Given the description of an element on the screen output the (x, y) to click on. 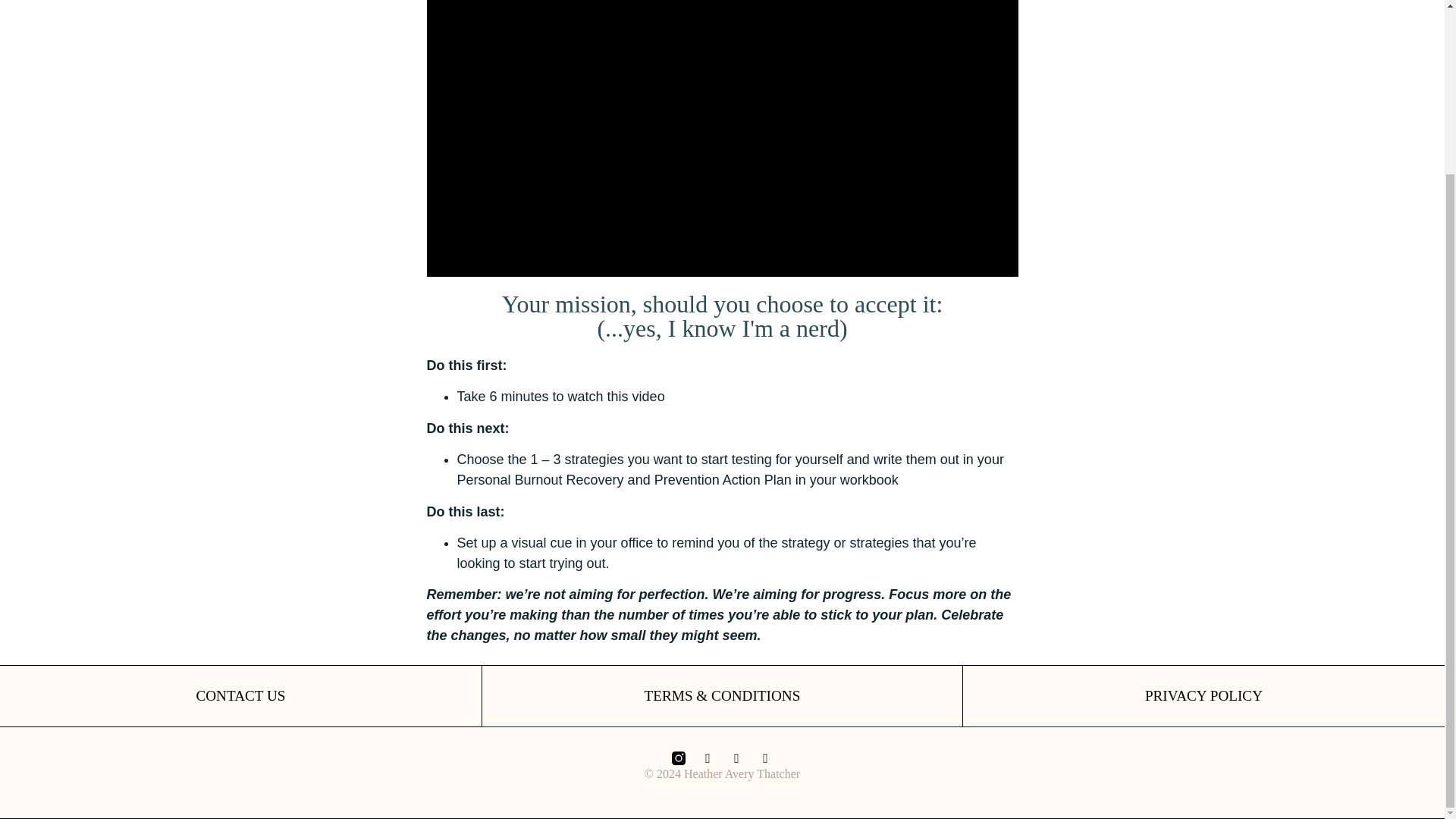
CONTACT US (240, 695)
PRIVACY POLICY (1203, 695)
